Given the description of an element on the screen output the (x, y) to click on. 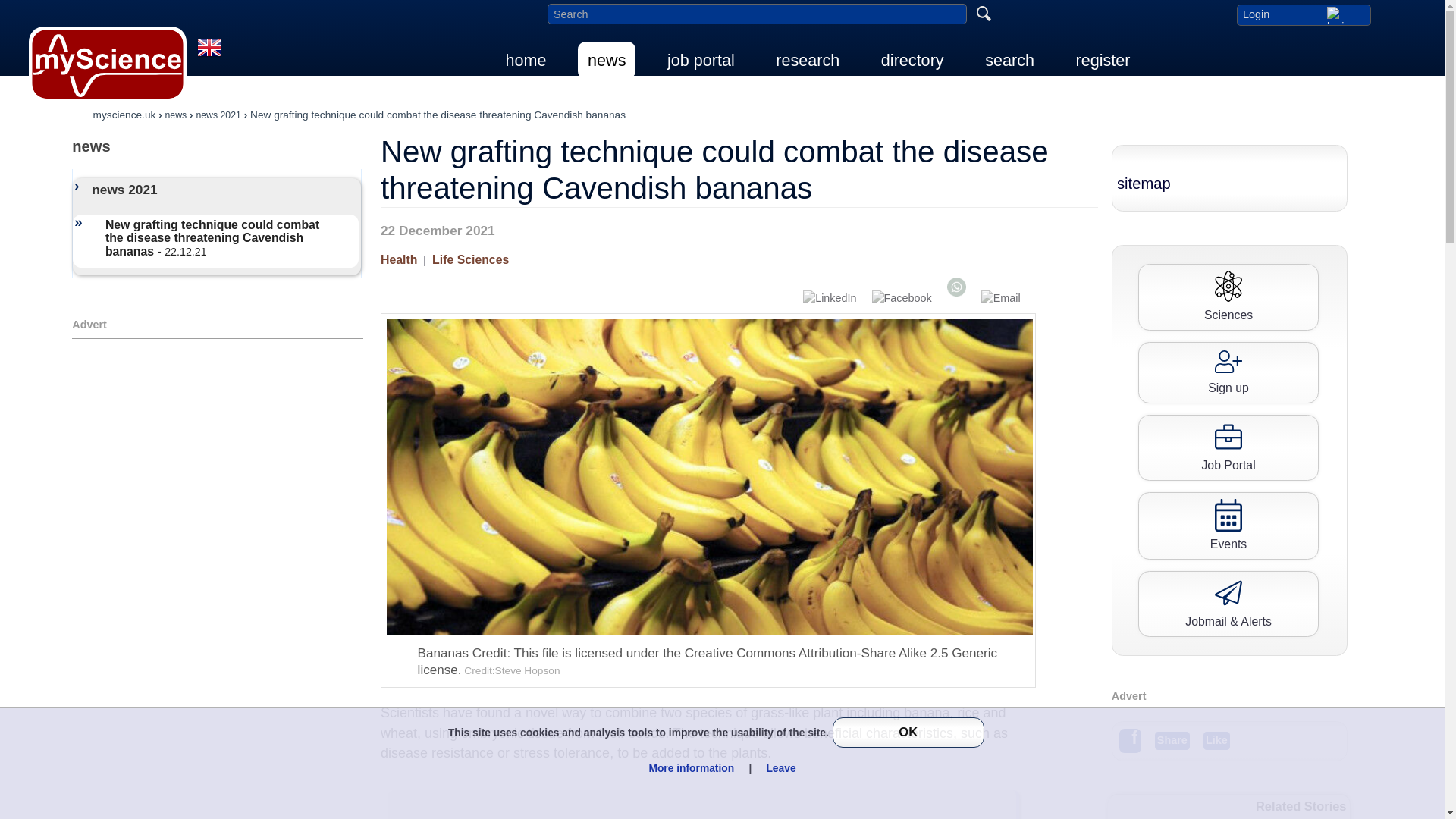
Share on LinkedIn (829, 298)
 news  (216, 145)
news 2021 (217, 114)
news (176, 114)
search (1009, 59)
job portal (701, 59)
Share on Facebook (901, 298)
Share on WhatsApp Web (956, 287)
Login (1303, 14)
Search Job Offers (1227, 447)
home (526, 59)
news (606, 59)
research (806, 59)
directory (911, 59)
